Given the description of an element on the screen output the (x, y) to click on. 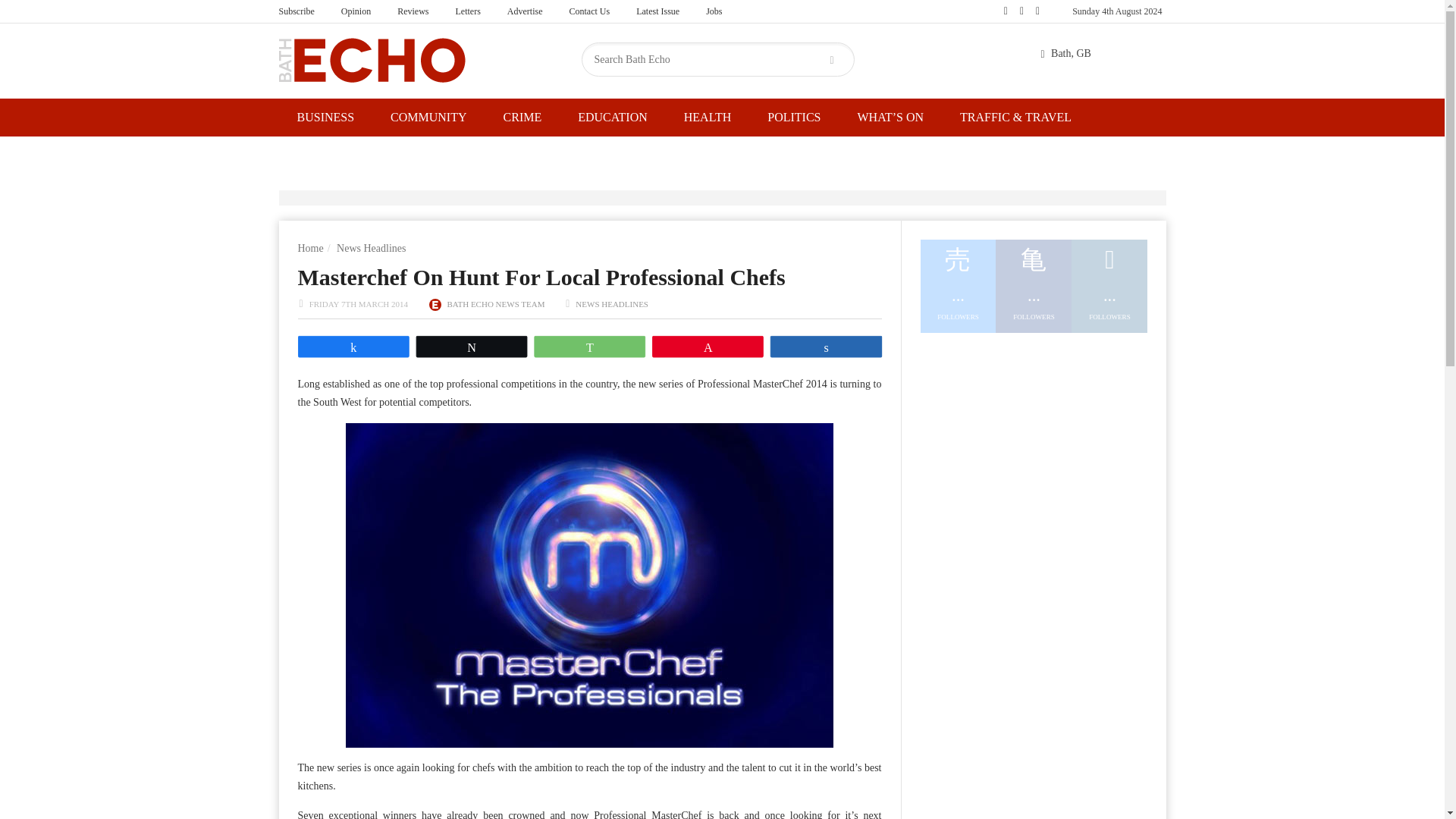
Letters (468, 11)
BUSINESS (325, 116)
News Headlines (371, 247)
COMMUNITY (428, 116)
BATH ECHO NEWS TEAM (495, 303)
Subscribe (295, 11)
Advertise (525, 11)
HEALTH (707, 116)
NEWS HEADLINES (611, 303)
WEATHER (325, 155)
Reviews (412, 11)
Latest Issue (657, 11)
Contact Us (589, 11)
POLITICS (793, 116)
Jobs (713, 11)
